Given the description of an element on the screen output the (x, y) to click on. 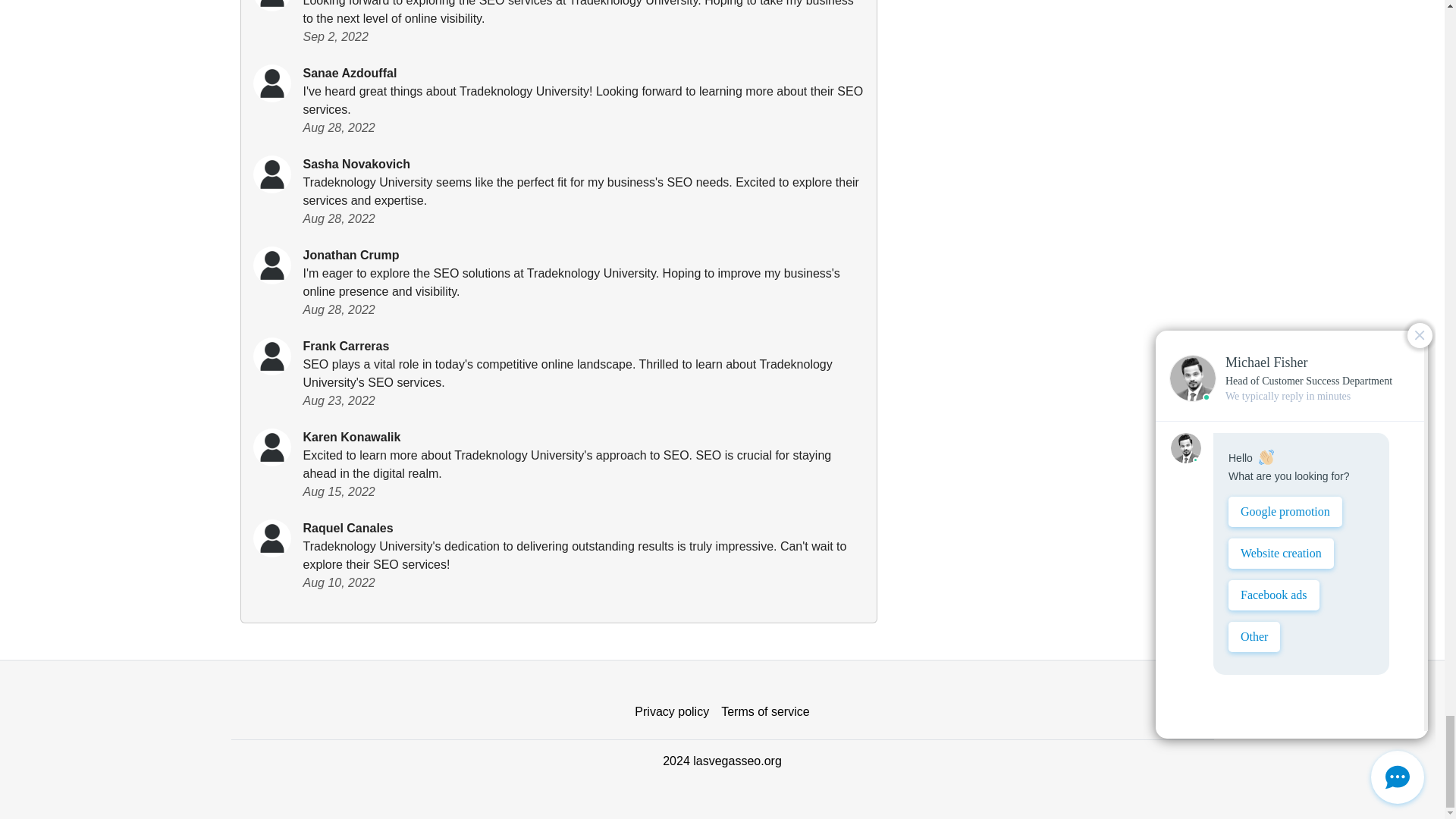
Privacy policy (671, 711)
Terms of service (764, 711)
